Given the description of an element on the screen output the (x, y) to click on. 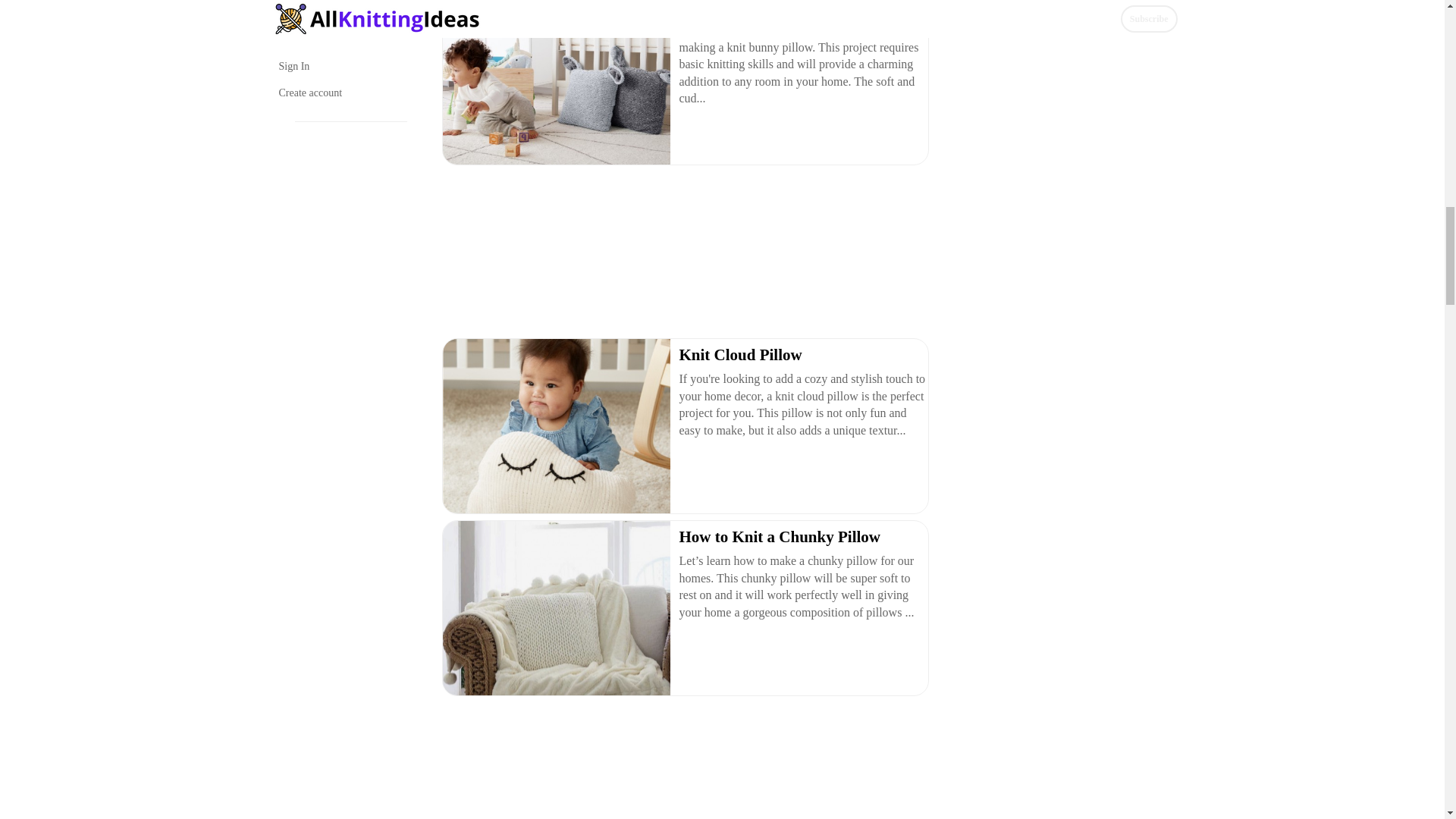
Advertisement (683, 254)
Advertisement (683, 764)
